Given the description of an element on the screen output the (x, y) to click on. 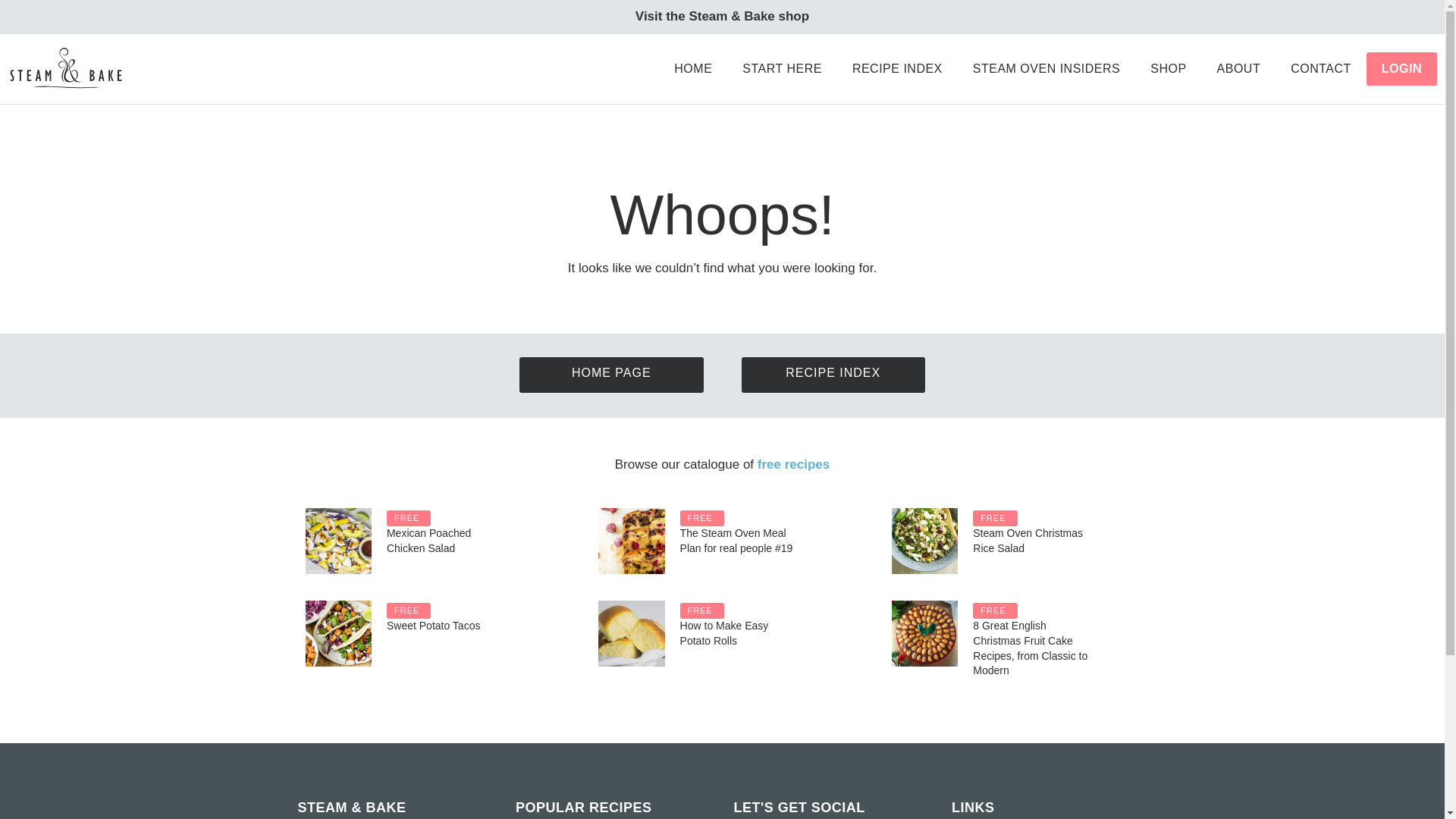
Old Fashioned Fruit Cake (924, 633)
CONTACT (1321, 68)
FREE (701, 518)
Mexican-chicken-salad-landscape-1 (337, 540)
FREE (701, 610)
LOGIN (1402, 68)
FREE (994, 610)
Potato Rolls 17 (630, 633)
HOME (692, 68)
free recipes (793, 464)
